Given the description of an element on the screen output the (x, y) to click on. 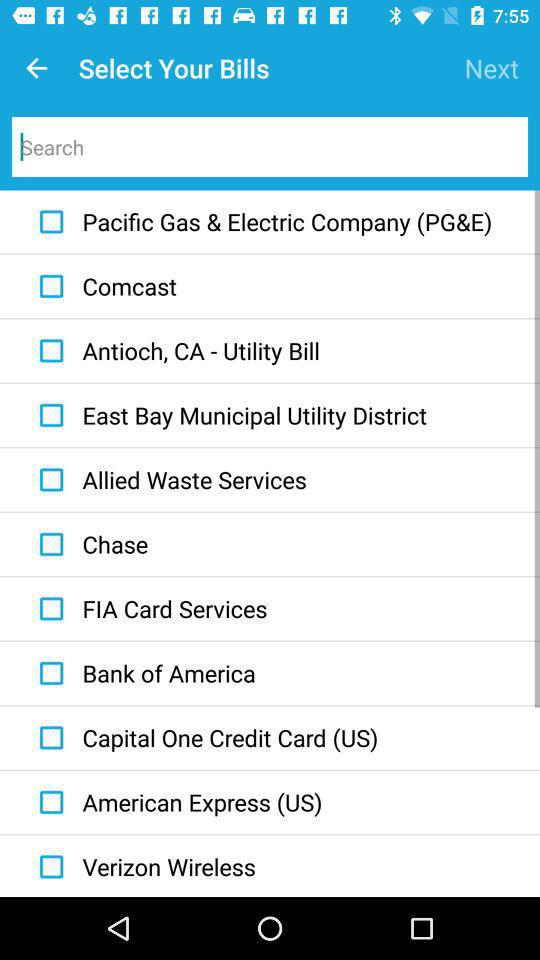
open item below the bank of america icon (204, 737)
